Given the description of an element on the screen output the (x, y) to click on. 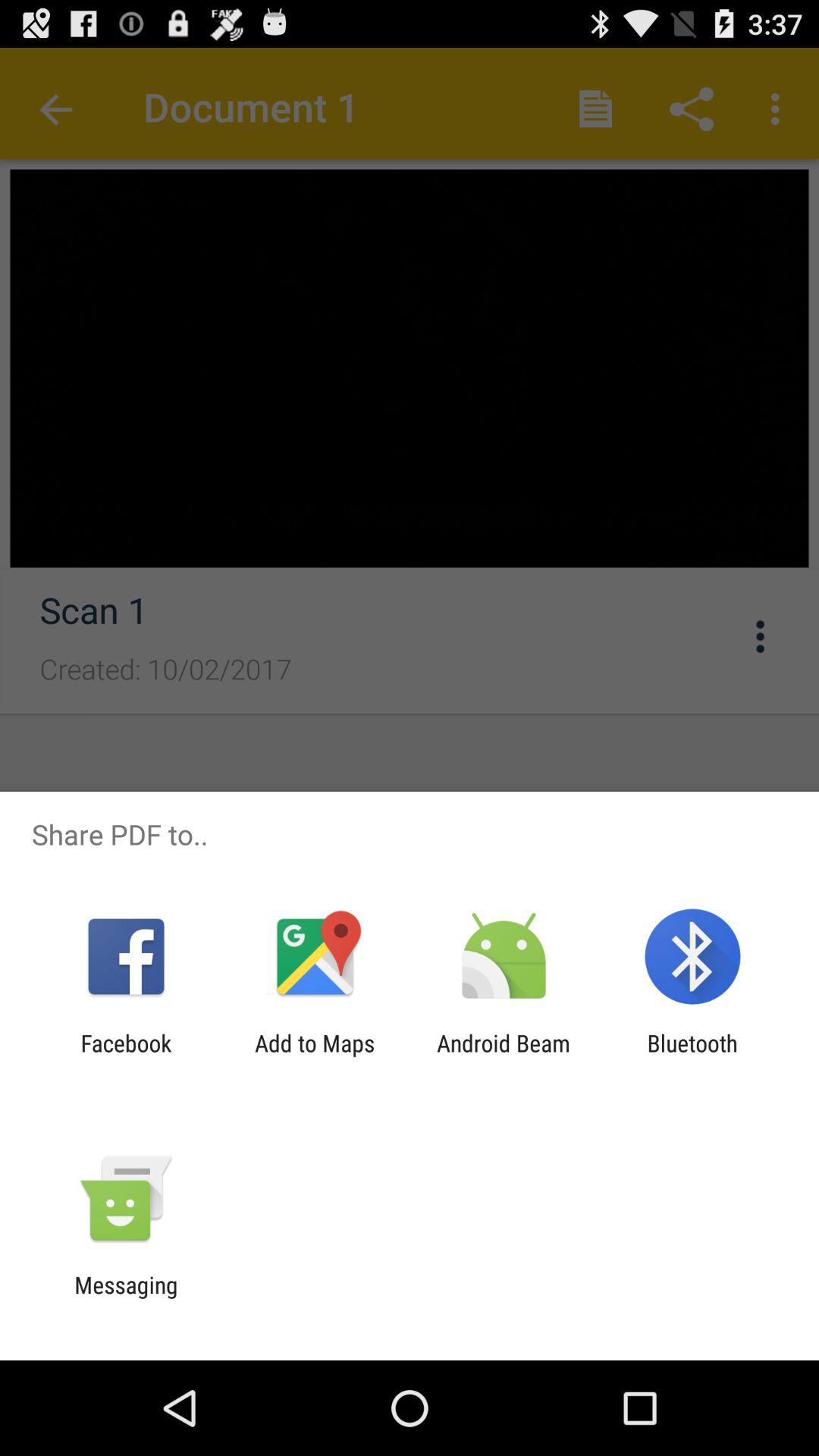
swipe to the messaging icon (126, 1298)
